Given the description of an element on the screen output the (x, y) to click on. 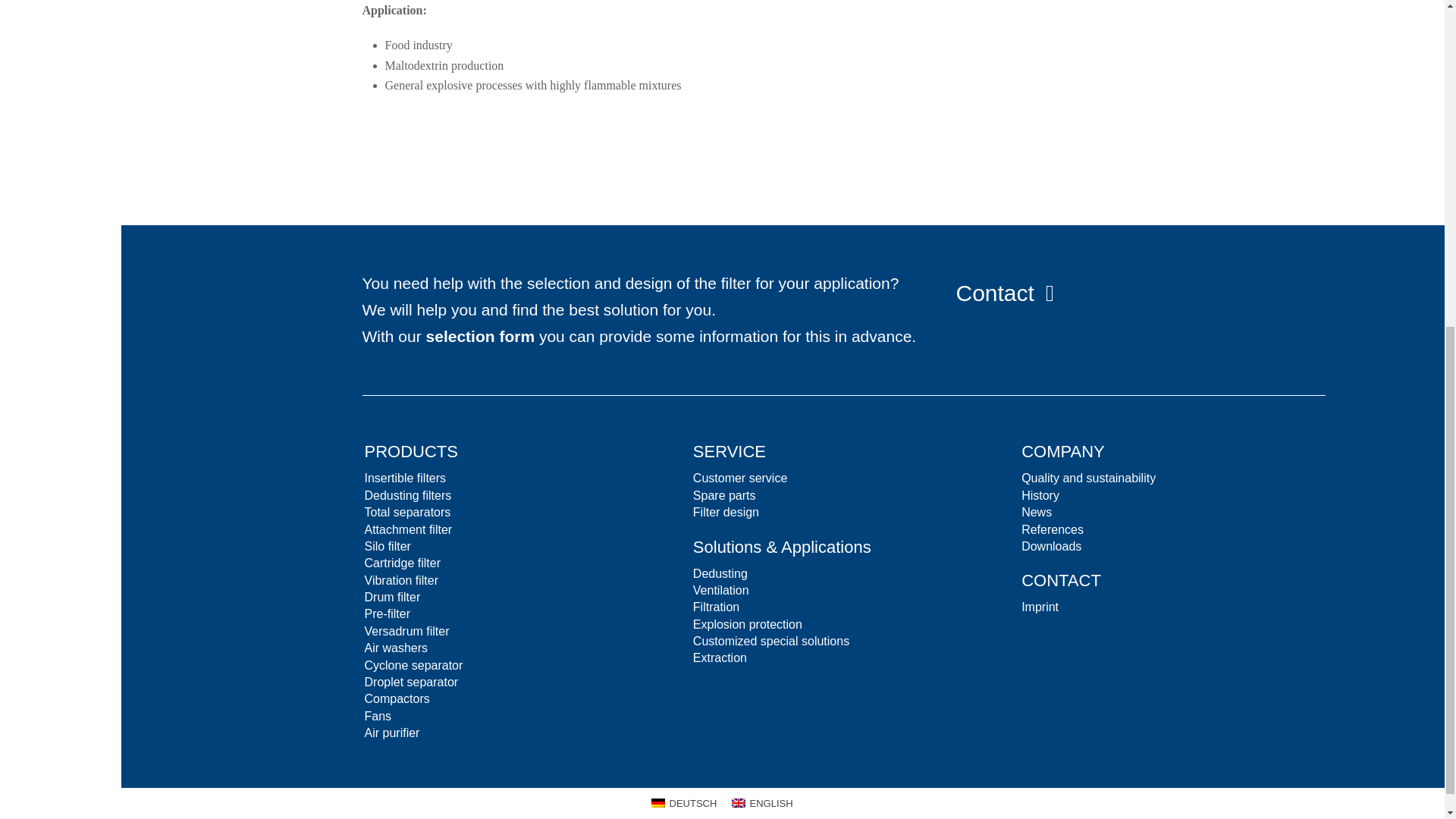
Drum filter (391, 596)
Insertible filter (404, 477)
Air washers and humidifiers (395, 647)
Silo filter (386, 545)
Vibration filter (400, 580)
Total separator (406, 512)
Droplet separator (410, 681)
Attachment filter (407, 529)
Dedusting (406, 495)
Cyclone separator (412, 665)
Cartridge filter (401, 562)
Pre-filter (386, 613)
Versadrum filter (405, 631)
